Given the description of an element on the screen output the (x, y) to click on. 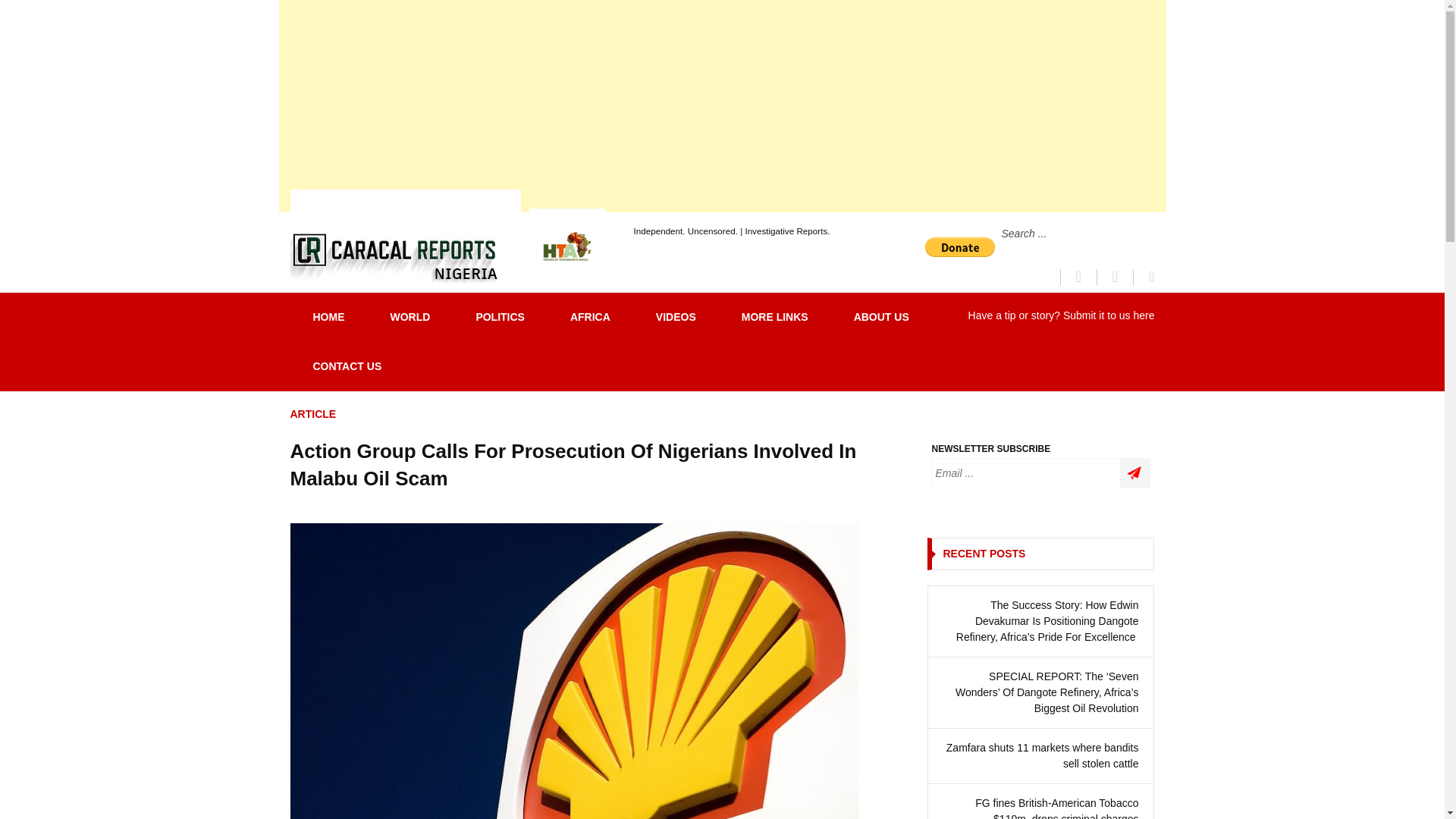
MORE LINKS (775, 317)
ARTICLE (312, 413)
POLITICS (499, 317)
Have a tip or story? Submit it to us here (1061, 315)
WORLD (409, 317)
VIDEOS (676, 317)
AFRICA (590, 317)
CONTACT US (346, 366)
HOME (327, 317)
ABOUT US (881, 317)
Zamfara shuts 11 markets where bandits sell stolen cattle (1040, 756)
